Given the description of an element on the screen output the (x, y) to click on. 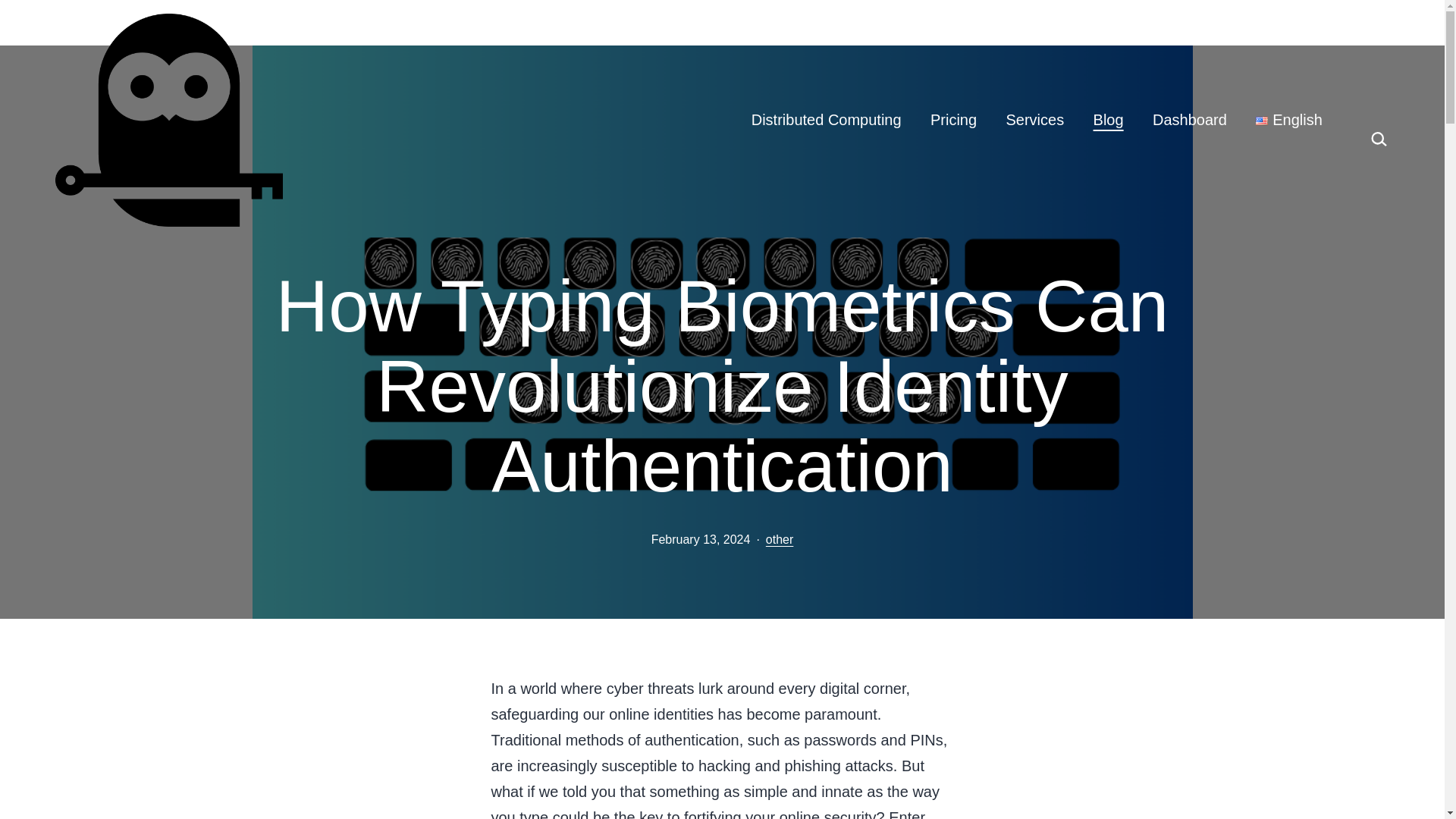
other (779, 539)
Distributed Computing (826, 119)
Services (1034, 119)
Dashboard (1189, 119)
English (1289, 119)
Pricing (953, 119)
Blog (1107, 119)
